Given the description of an element on the screen output the (x, y) to click on. 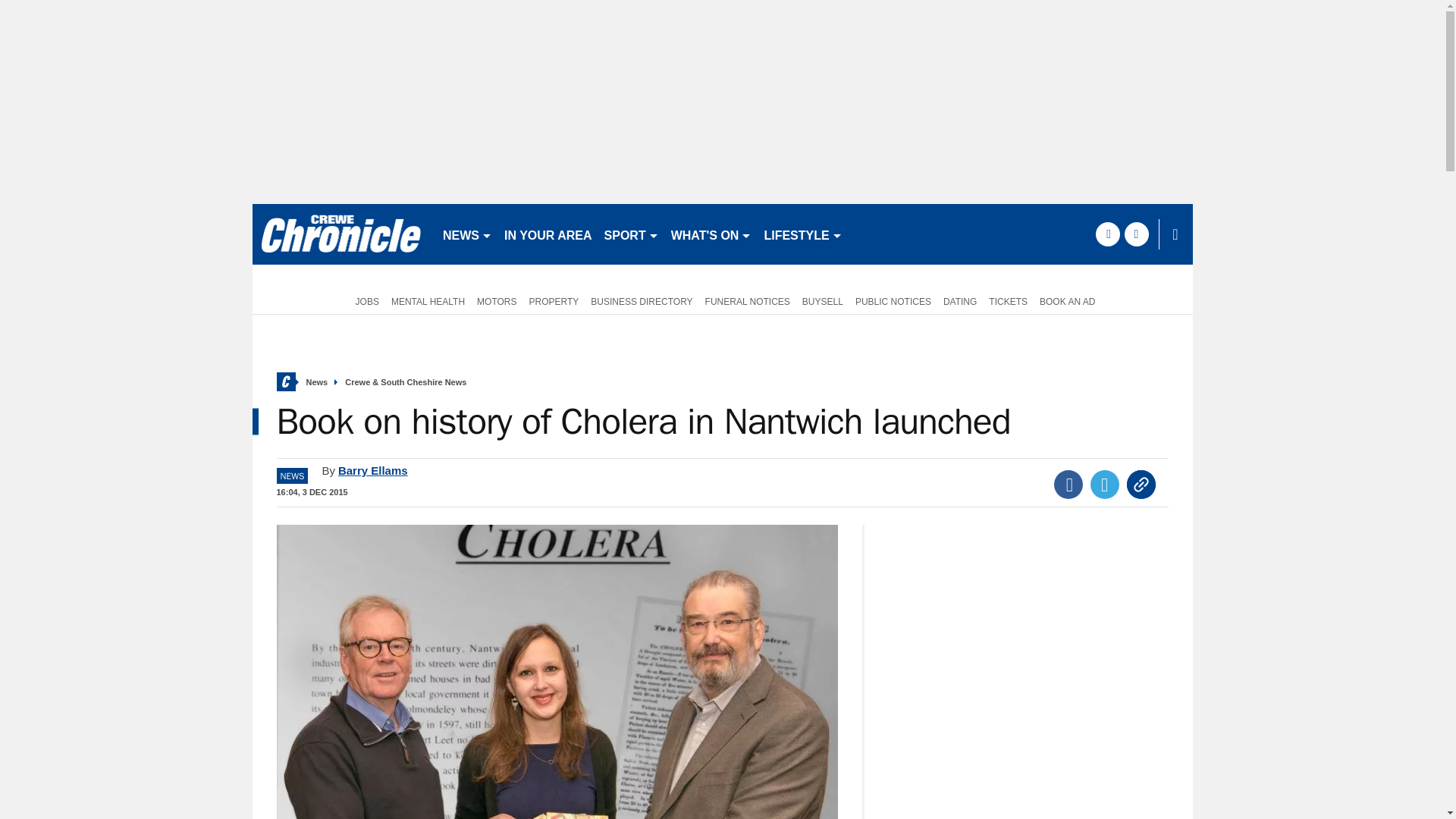
twitter (1136, 233)
Twitter (1104, 484)
LIFESTYLE (802, 233)
IN YOUR AREA (547, 233)
Facebook (1068, 484)
NEWS (466, 233)
WHAT'S ON (711, 233)
crewechronicle (340, 233)
SPORT (631, 233)
facebook (1106, 233)
